Given the description of an element on the screen output the (x, y) to click on. 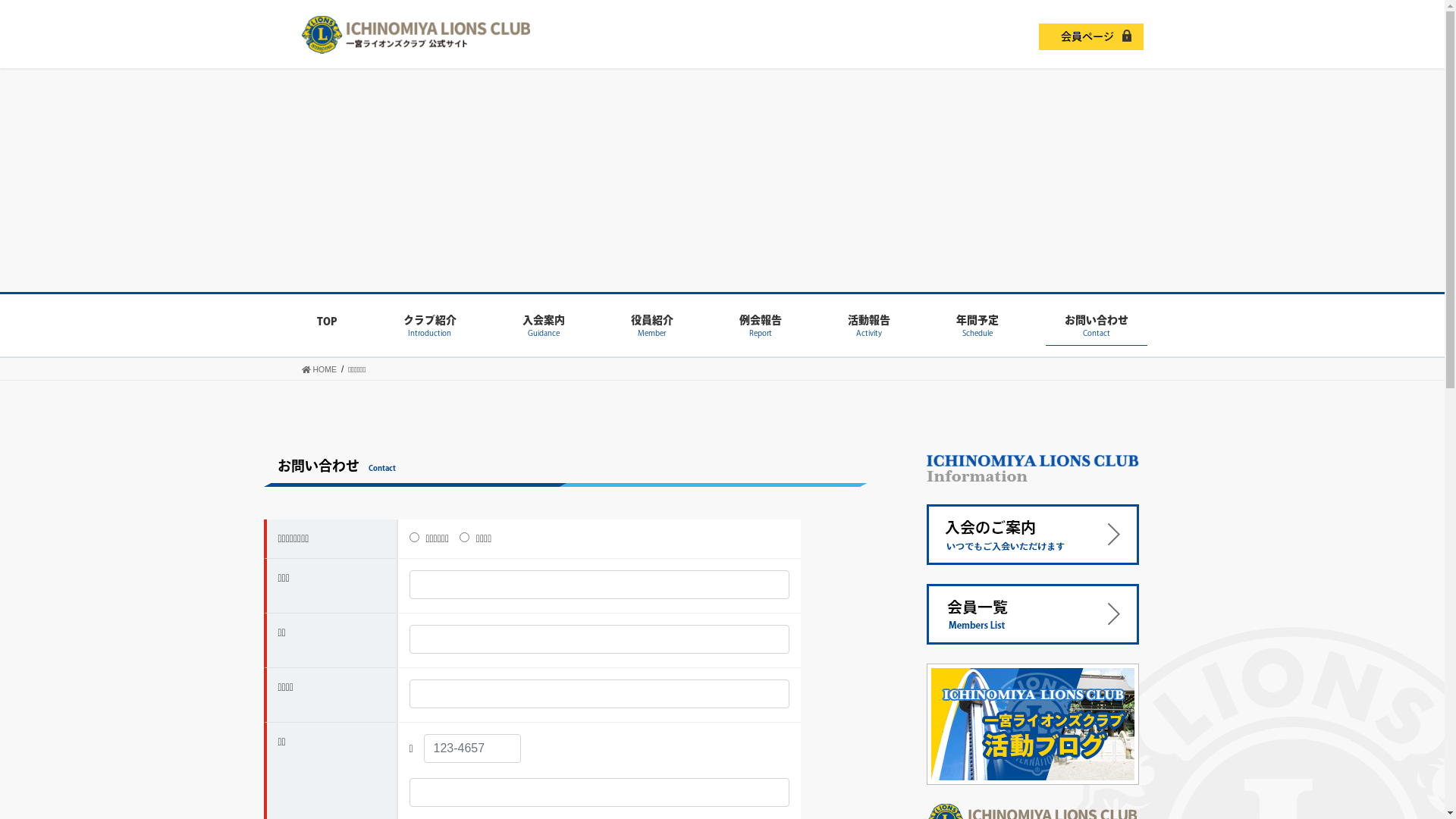
TOP Element type: text (326, 325)
HOME Element type: text (318, 369)
